Given the description of an element on the screen output the (x, y) to click on. 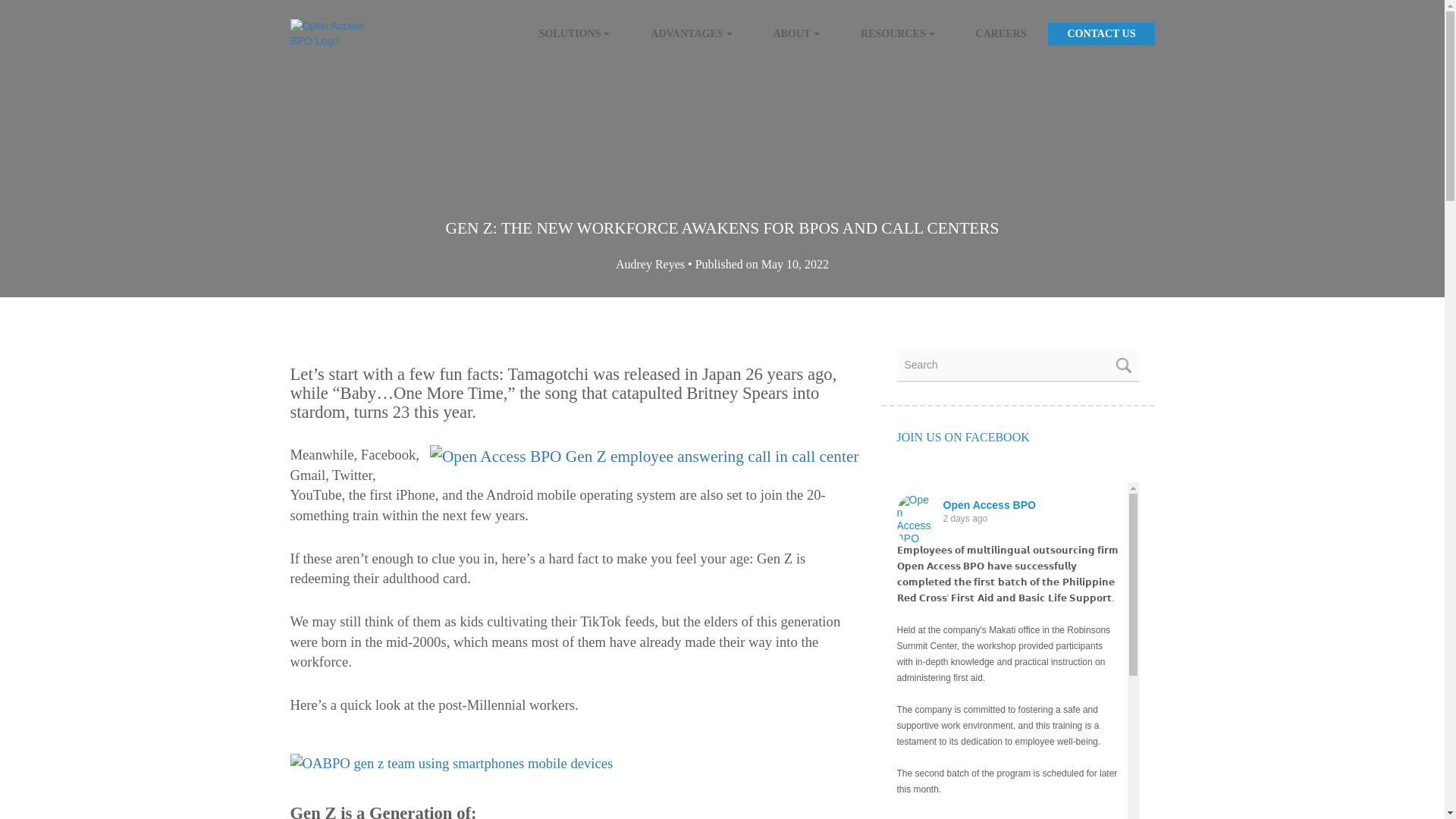
ABOUT (796, 33)
CONTACT US (1101, 33)
RESOURCES (897, 33)
CAREERS (1000, 33)
ADVANTAGES (691, 33)
Audrey Reyes (651, 264)
fb:like Facebook Social Plugin (1017, 465)
SOLUTIONS (573, 33)
